Given the description of an element on the screen output the (x, y) to click on. 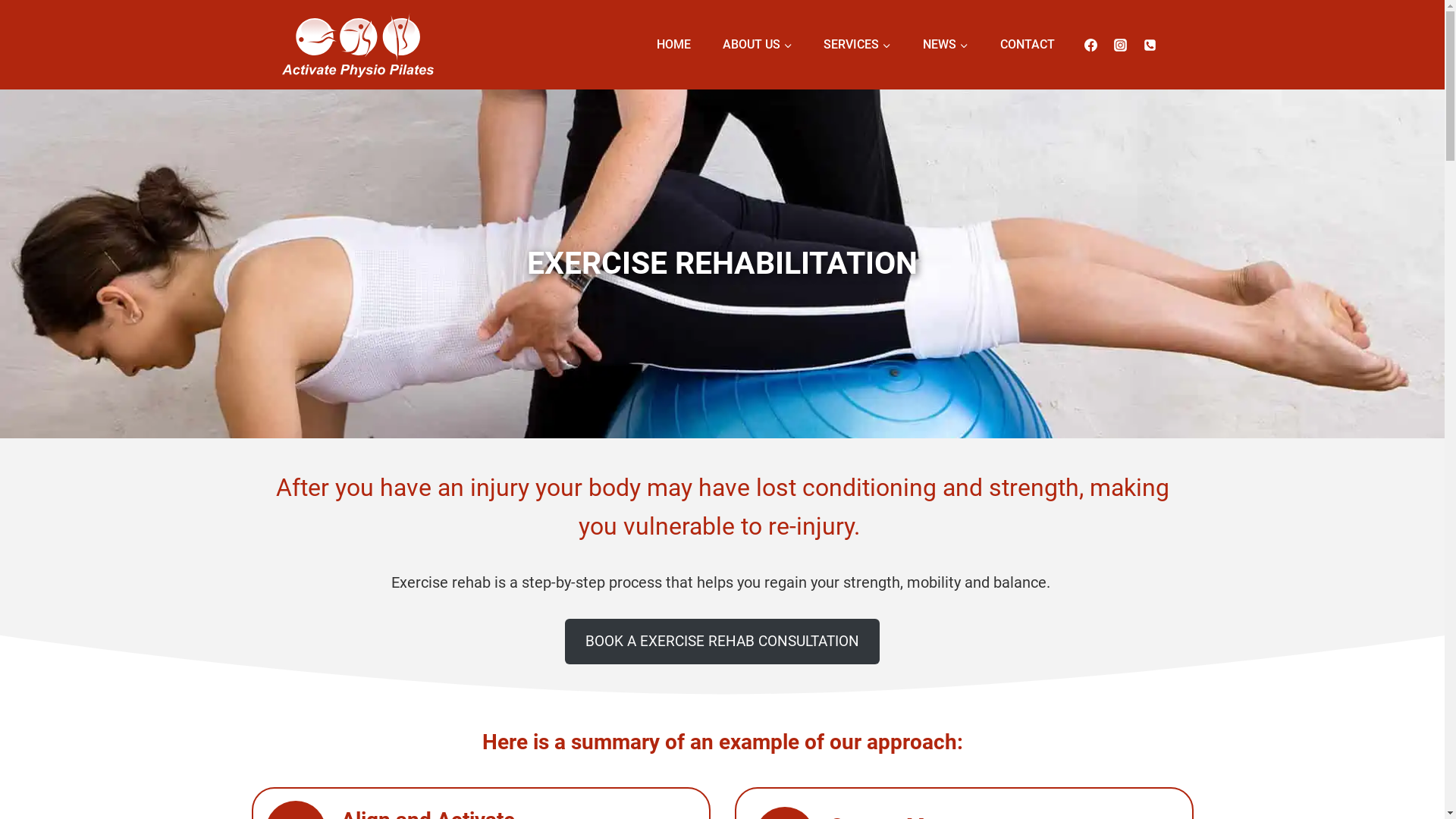
SERVICES Element type: text (857, 44)
CONTACT Element type: text (1027, 44)
NEWS Element type: text (945, 44)
ABOUT US Element type: text (757, 44)
BOOK A EXERCISE REHAB CONSULTATION Element type: text (722, 641)
HOME Element type: text (673, 44)
